Given the description of an element on the screen output the (x, y) to click on. 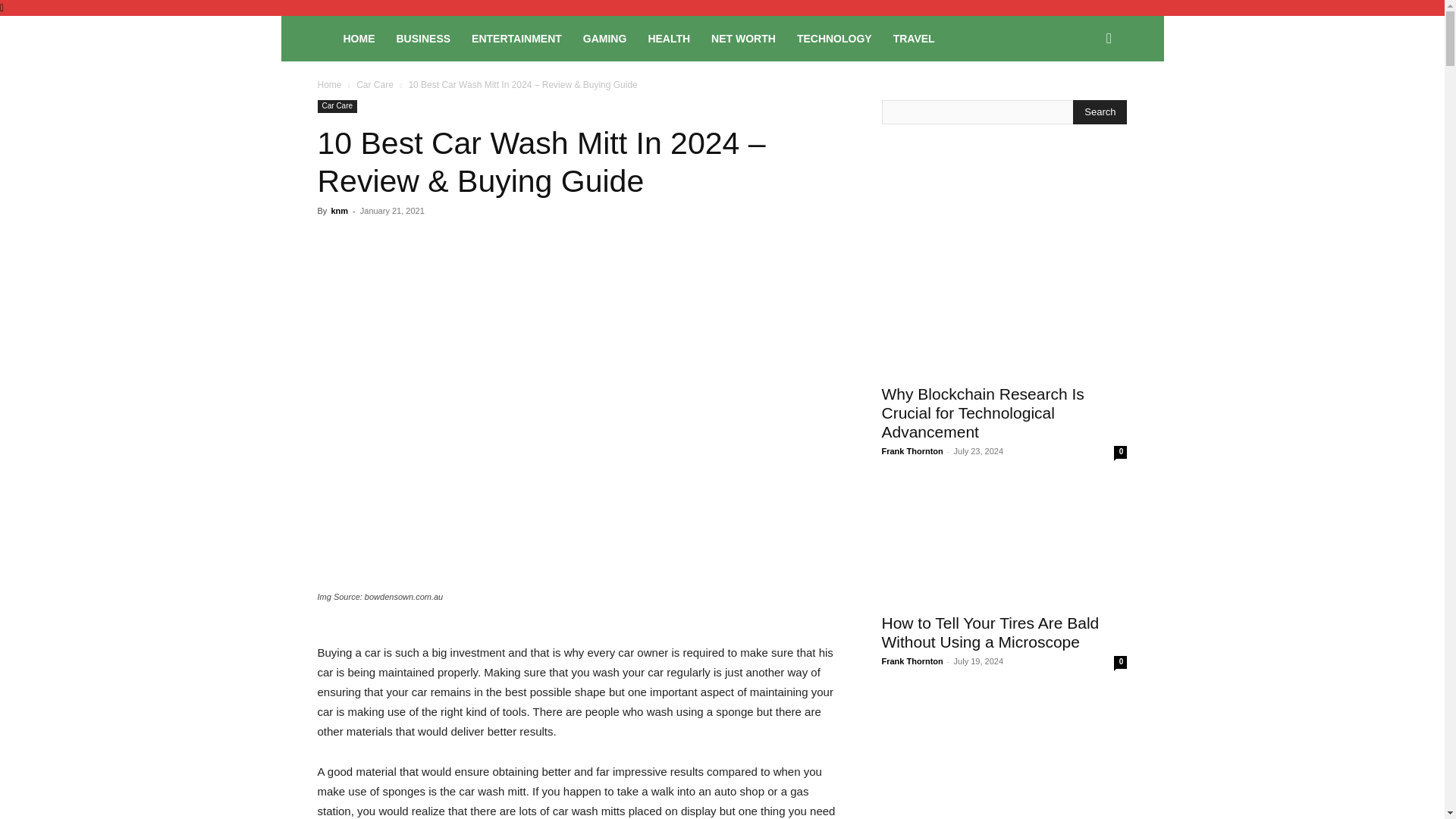
Home (328, 84)
Search (1099, 111)
ENTERTAINMENT (516, 38)
NET WORTH (743, 38)
Search (1085, 103)
BUSINESS (423, 38)
View all posts in Car Care (374, 84)
TRAVEL (913, 38)
Car Care (336, 106)
Car Care (374, 84)
The Washington Note (324, 38)
TECHNOLOGY (834, 38)
HEALTH (668, 38)
GAMING (604, 38)
